Given the description of an element on the screen output the (x, y) to click on. 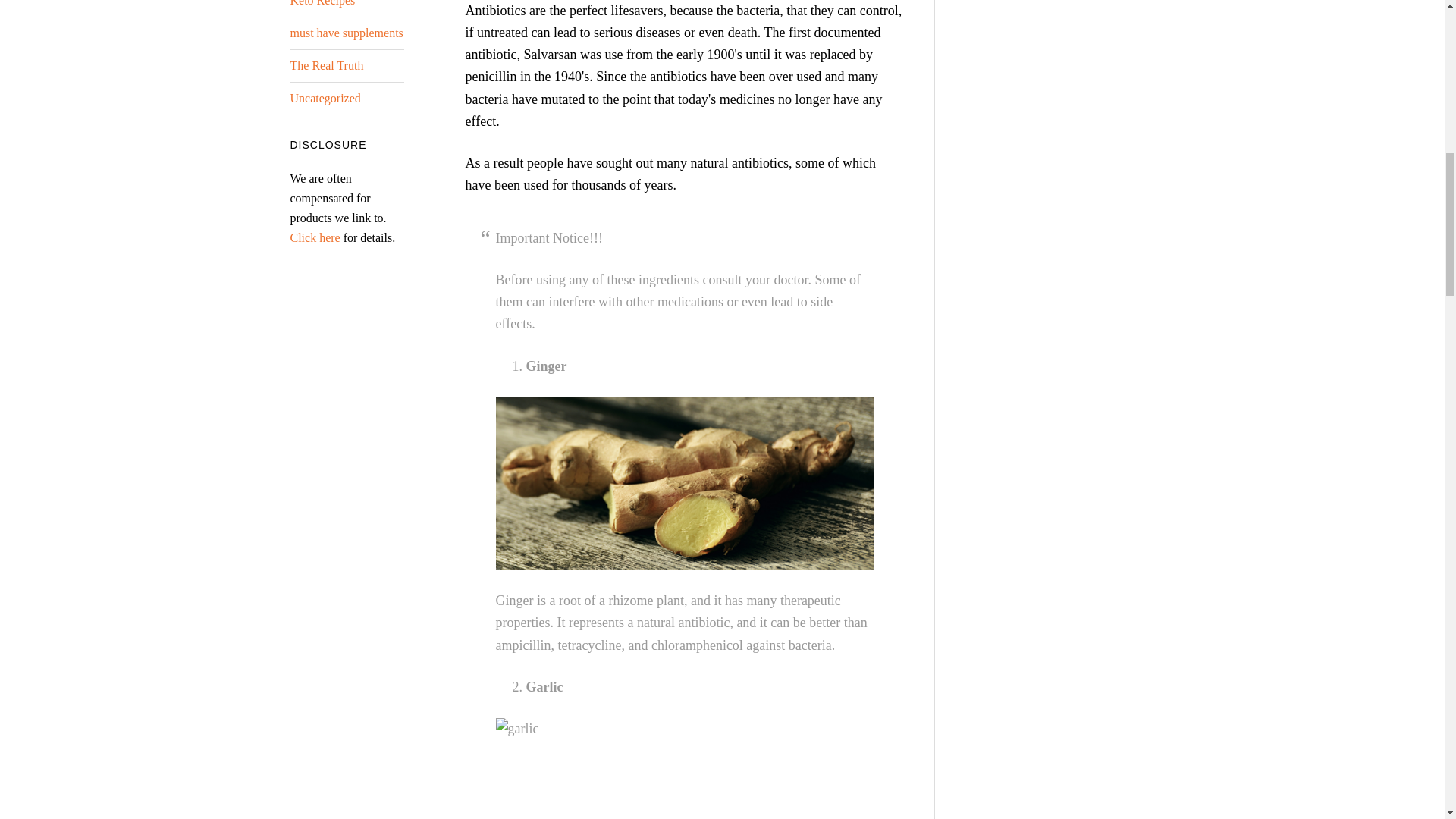
Keto Recipes (322, 3)
The Real Truth (325, 65)
Uncategorized (324, 97)
Click here (314, 237)
must have supplements (346, 32)
